Given the description of an element on the screen output the (x, y) to click on. 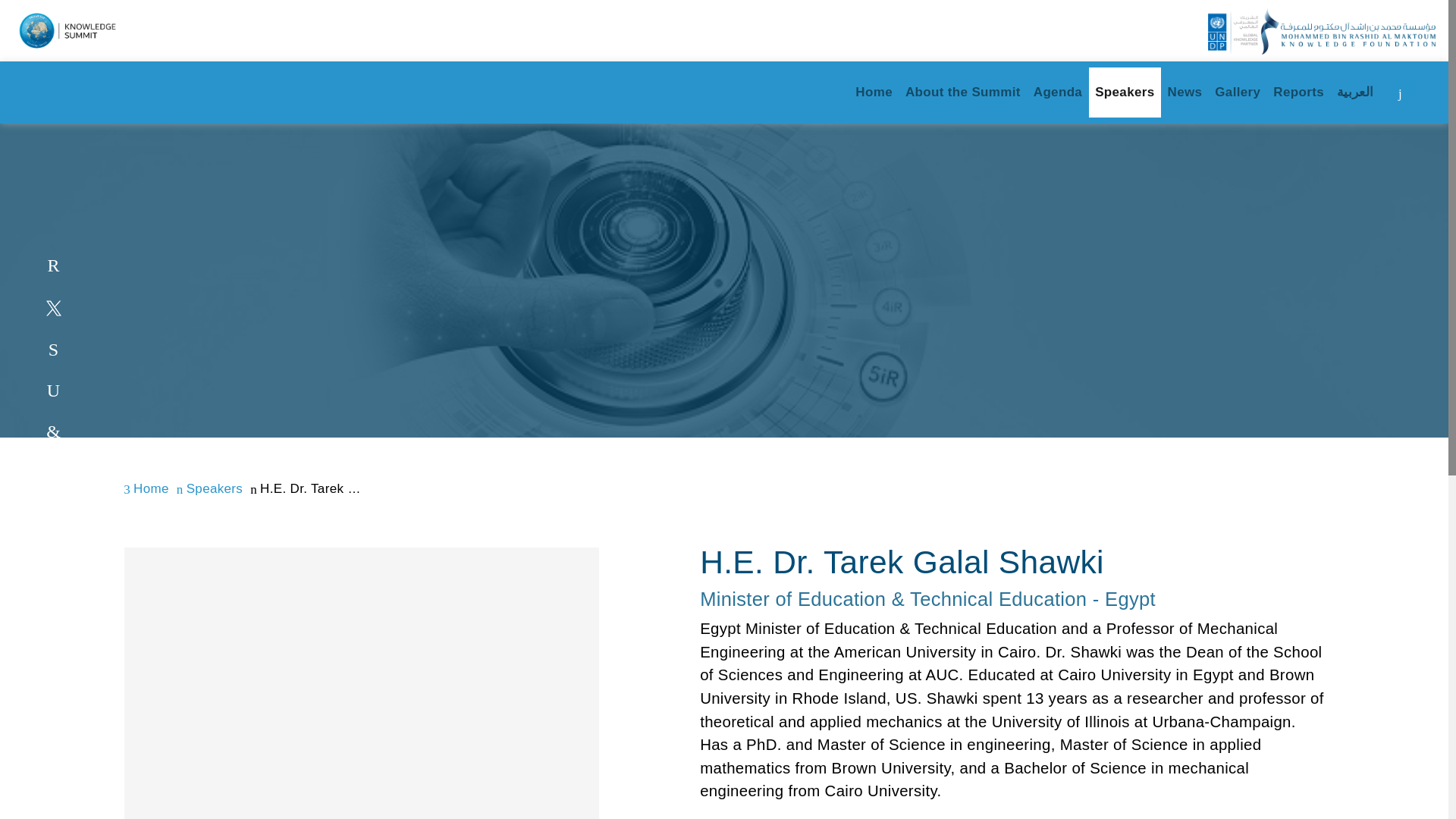
Speakers (209, 488)
Reports (1298, 92)
News (1184, 92)
Gallery (1237, 92)
H.E. Dr. Tarek Galal Shawki (307, 488)
About the Summit (962, 92)
Home (873, 92)
Home (146, 488)
Agenda (1056, 92)
Speakers (1124, 92)
